Given the description of an element on the screen output the (x, y) to click on. 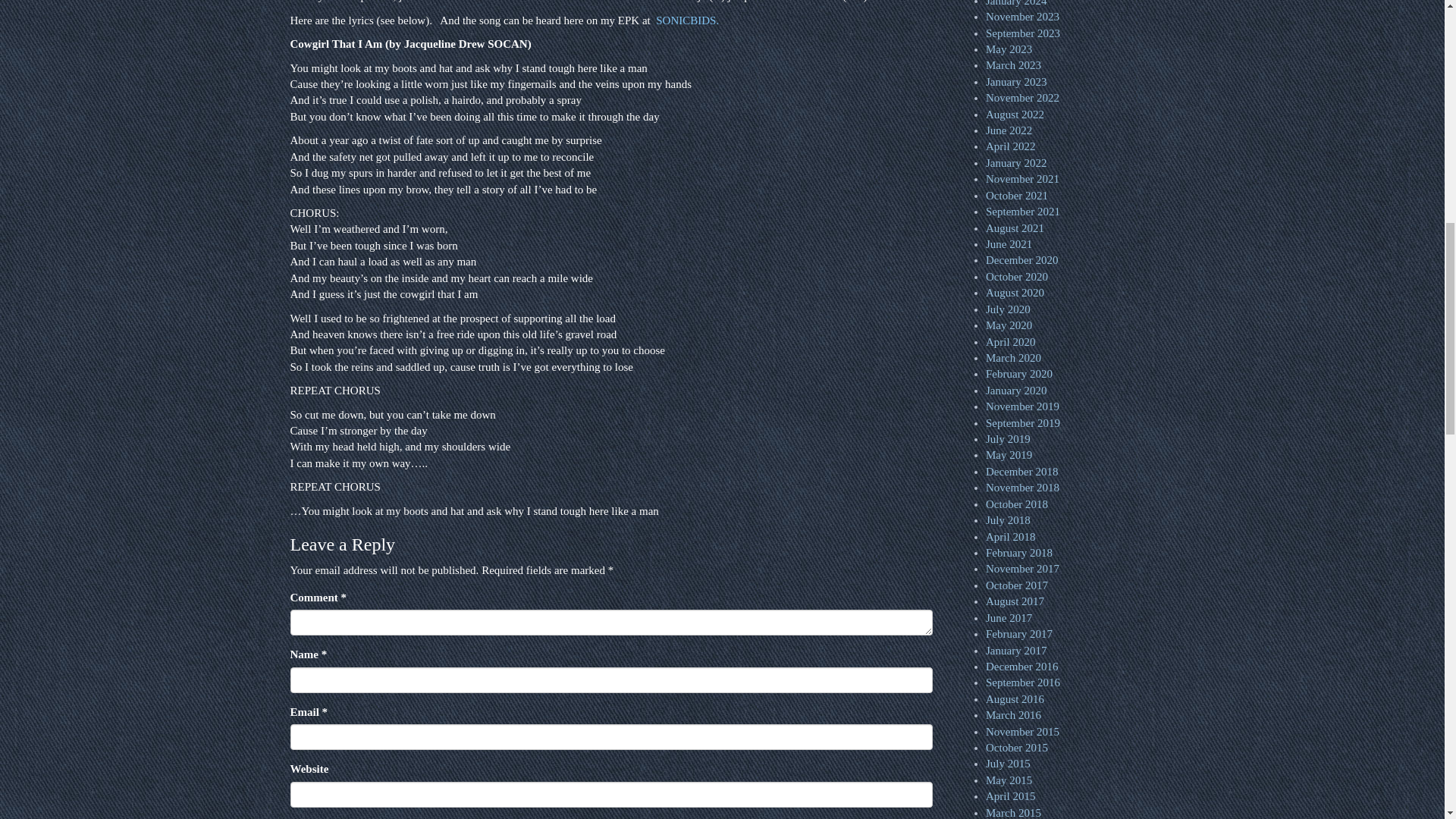
March 2023 (1013, 64)
September 2023 (1022, 33)
Cowgirl That I Am (687, 20)
November 2022 (1022, 97)
January 2023 (1015, 81)
May 2023 (1008, 49)
November 2023 (1022, 16)
SONICBIDS. (687, 20)
January 2024 (1015, 3)
